Given the description of an element on the screen output the (x, y) to click on. 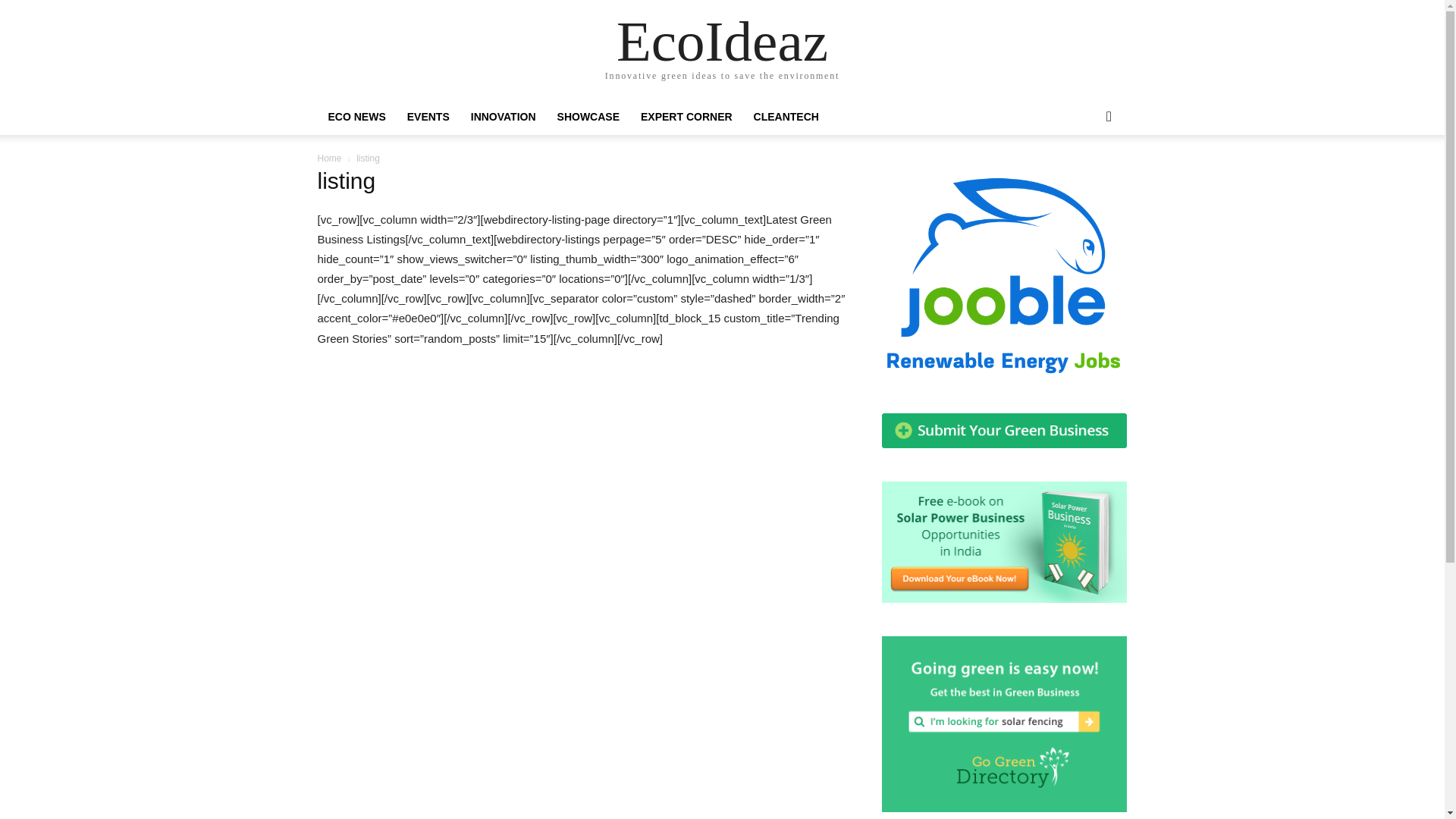
EcoIdeaz (721, 41)
EVENTS (428, 116)
INNOVATION (503, 116)
EXPERT CORNER (686, 116)
Search (1085, 177)
CLEANTECH (785, 116)
ECO NEWS (356, 116)
Showcasing Best Green ideas (503, 116)
Home (328, 158)
SHOWCASE (588, 116)
